Given the description of an element on the screen output the (x, y) to click on. 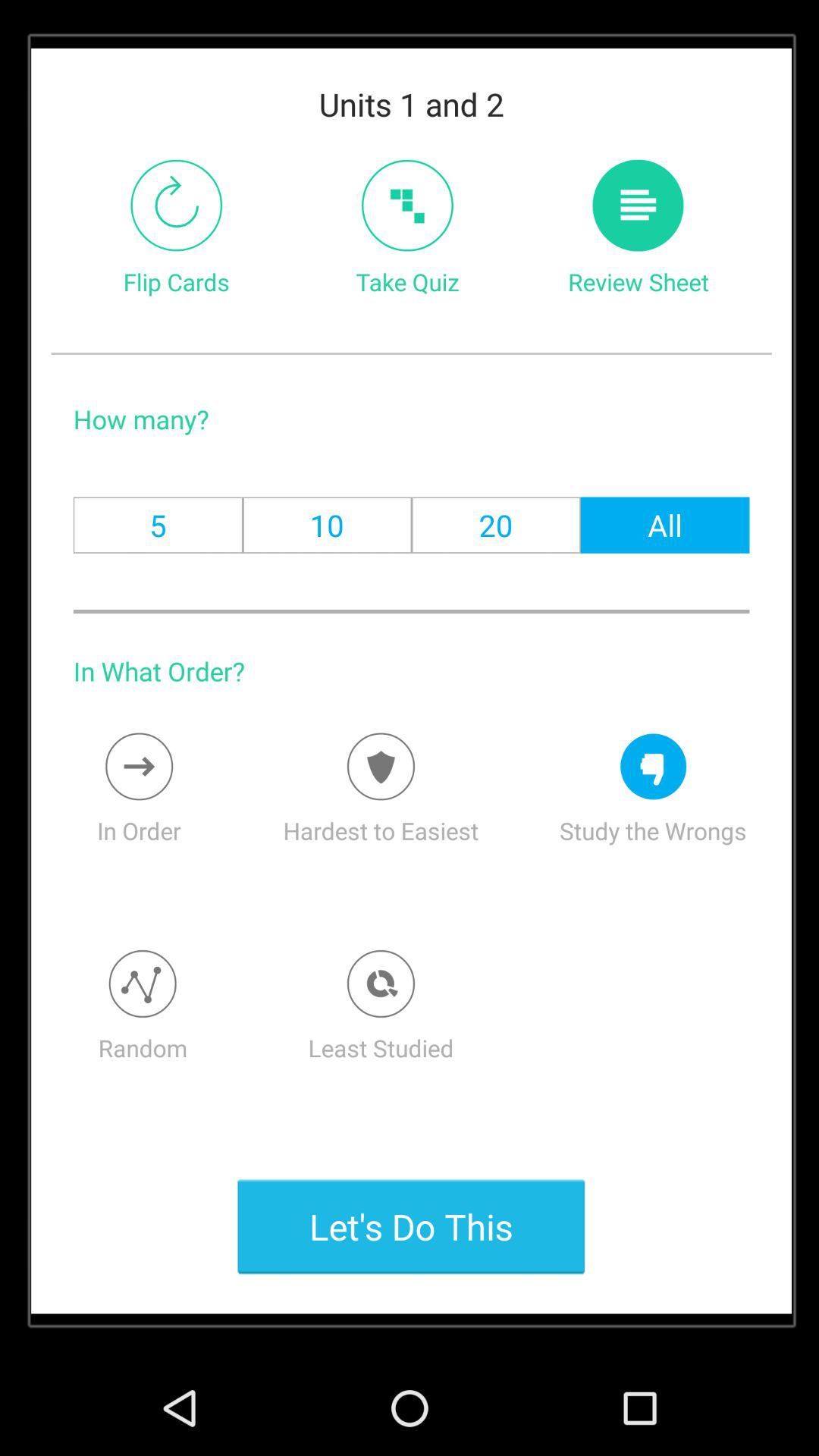
take quiz (407, 205)
